Given the description of an element on the screen output the (x, y) to click on. 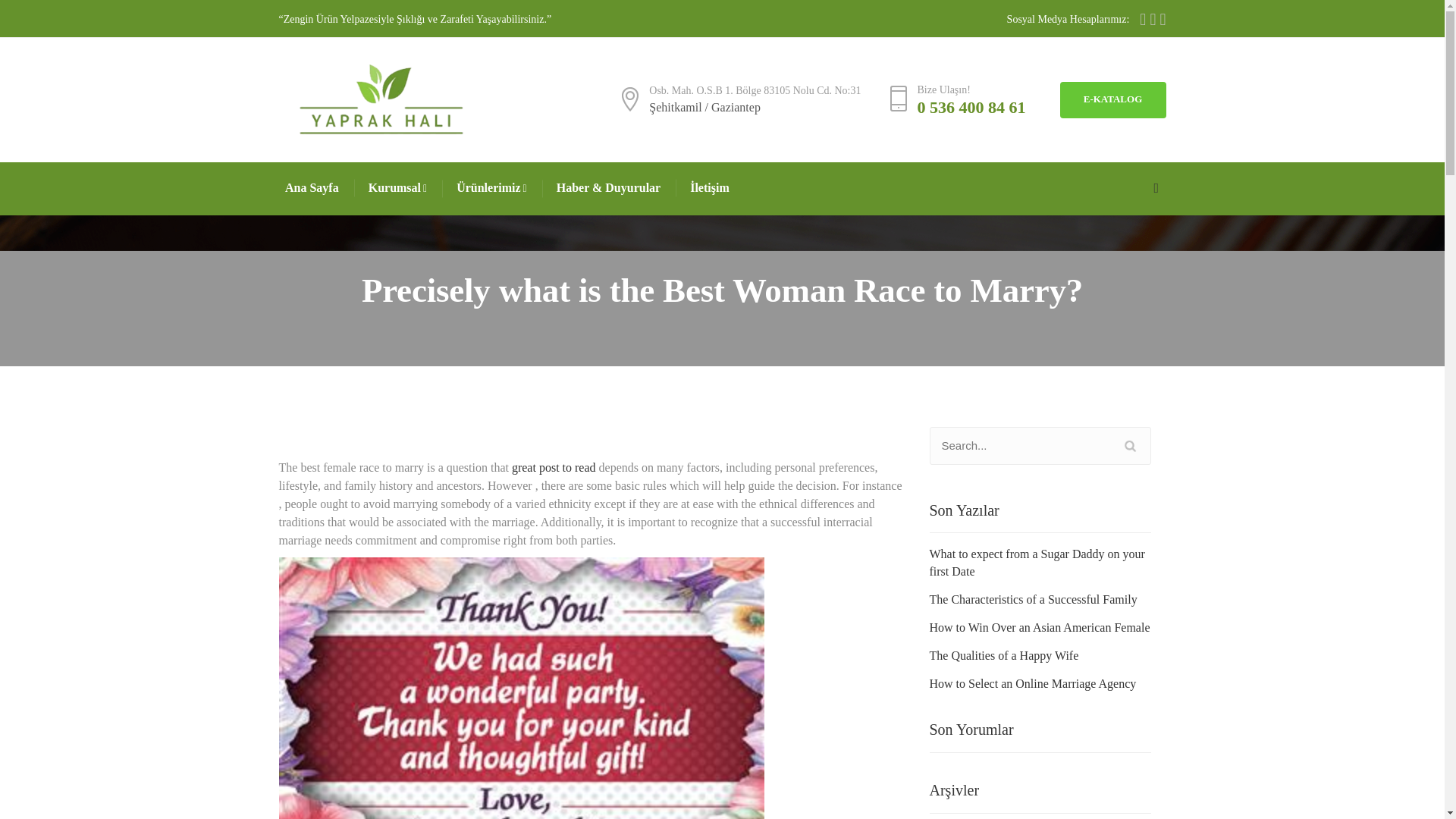
How to Win Over an Asian American Female (1040, 628)
How to Select an Online Marriage Agency (1033, 683)
The Qualities of a Happy Wife (1004, 656)
great post to read (553, 467)
E-KATALOG (1112, 99)
Kurumsal (398, 188)
Ana Sayfa (312, 188)
0 536 400 84 61 (971, 107)
The Characteristics of a Successful Family (1033, 600)
What to expect from a Sugar Daddy on your first Date (1040, 563)
